Given the description of an element on the screen output the (x, y) to click on. 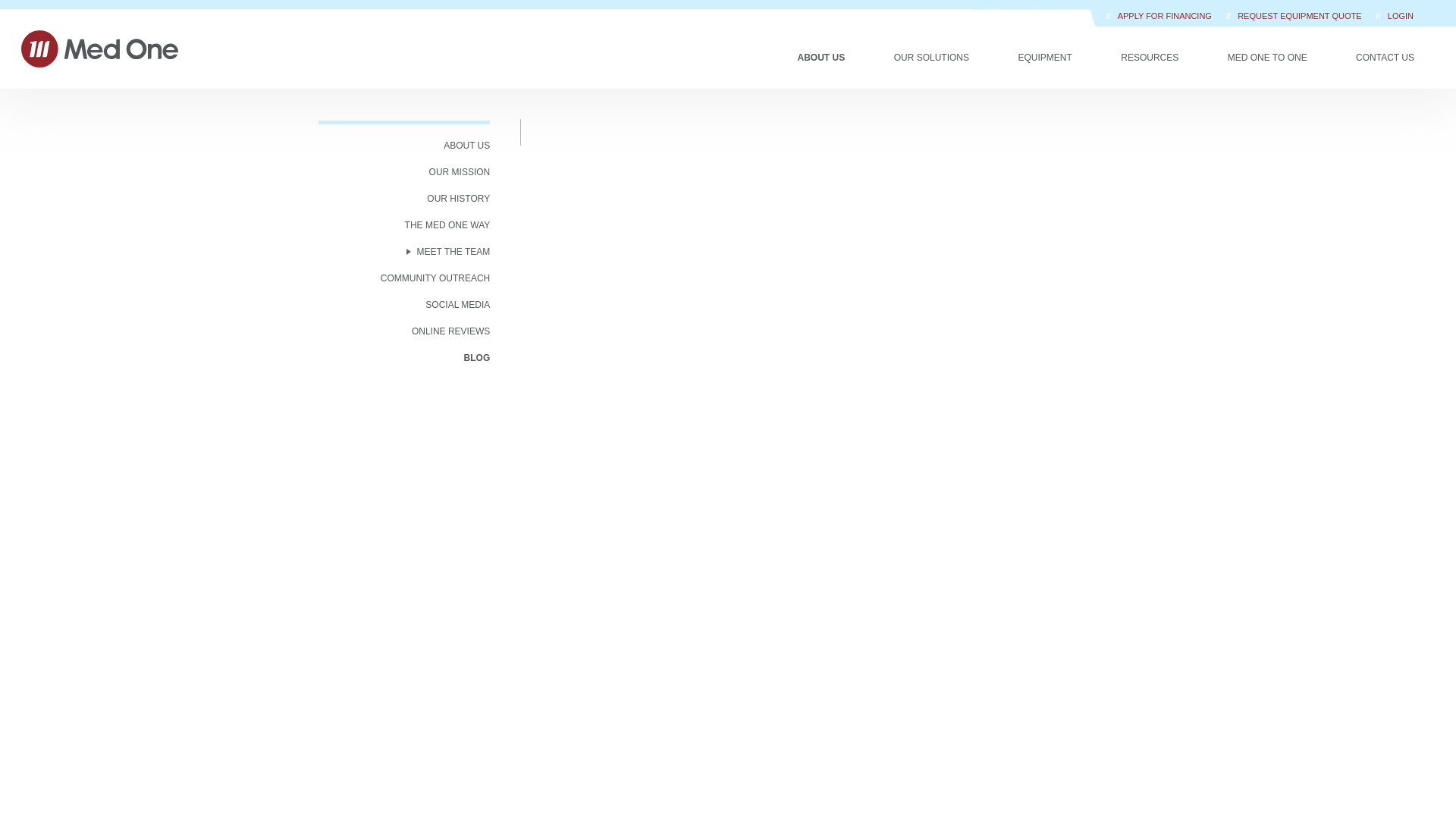
APPLY FOR FINANCING (1166, 15)
REQUEST EQUIPMENT QUOTE (1299, 15)
LOGIN (1400, 15)
